Given the description of an element on the screen output the (x, y) to click on. 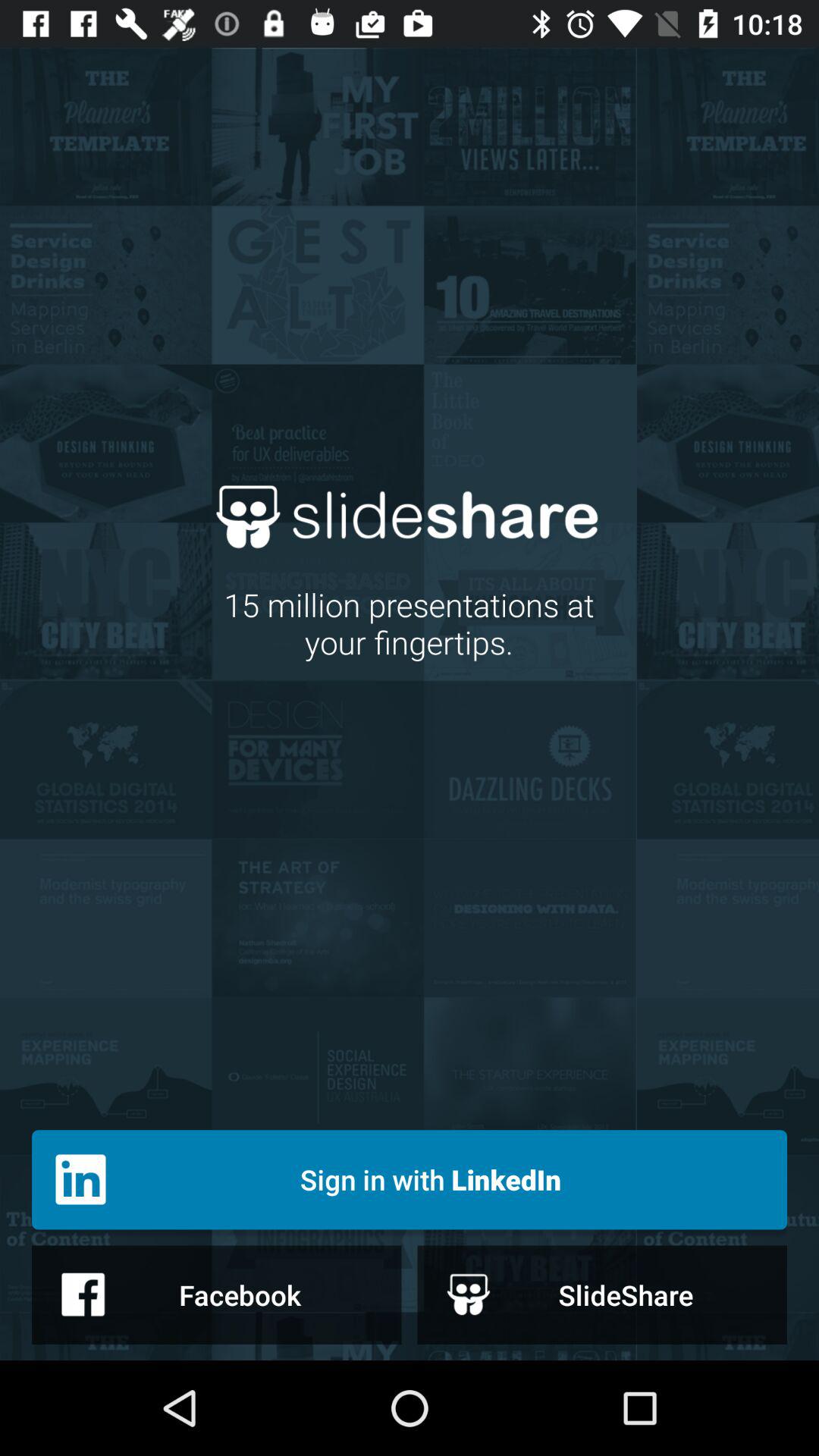
scroll until the facebook icon (216, 1294)
